Given the description of an element on the screen output the (x, y) to click on. 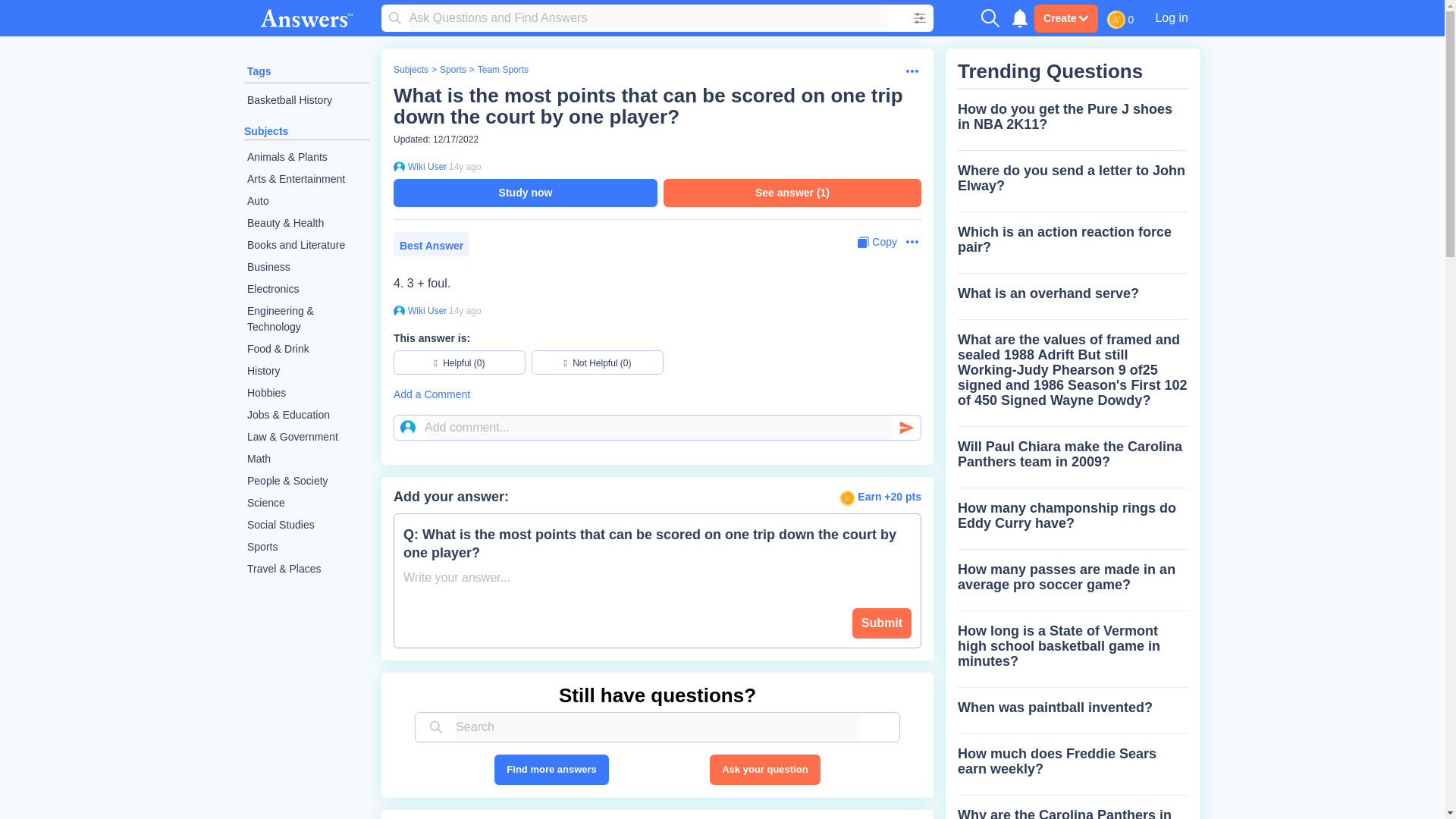
Wiki User (425, 310)
Electronics (306, 289)
Social Studies (306, 525)
Subjects (410, 69)
Hobbies (306, 393)
Sports (452, 69)
Basketball History (306, 100)
Math (306, 458)
Create (1065, 18)
Sports (306, 546)
